Given the description of an element on the screen output the (x, y) to click on. 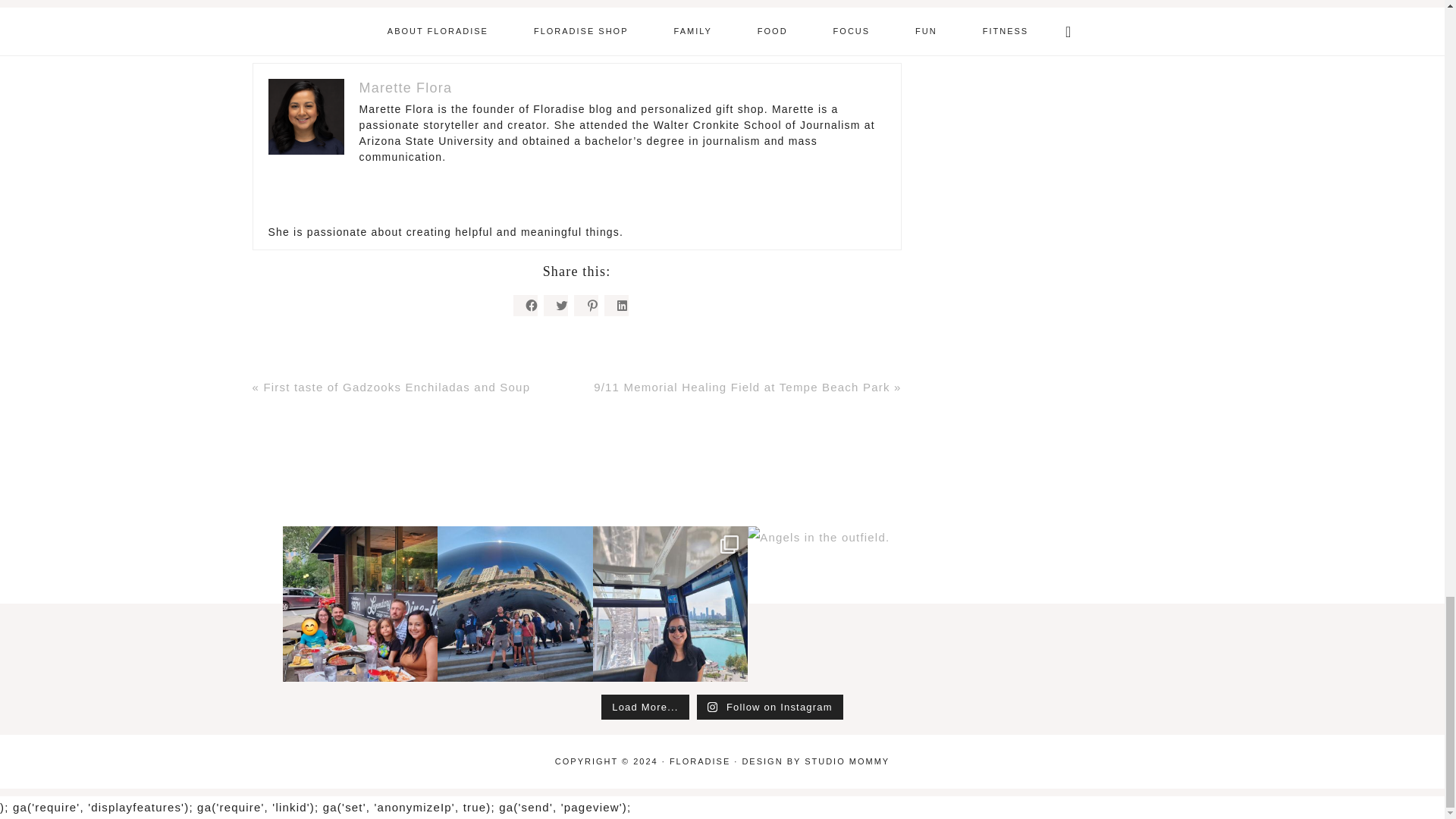
Click to share on LinkedIn (615, 305)
Click to share on Pinterest (584, 305)
Click to share on Twitter (555, 305)
Click to share on Facebook (524, 305)
